Given the description of an element on the screen output the (x, y) to click on. 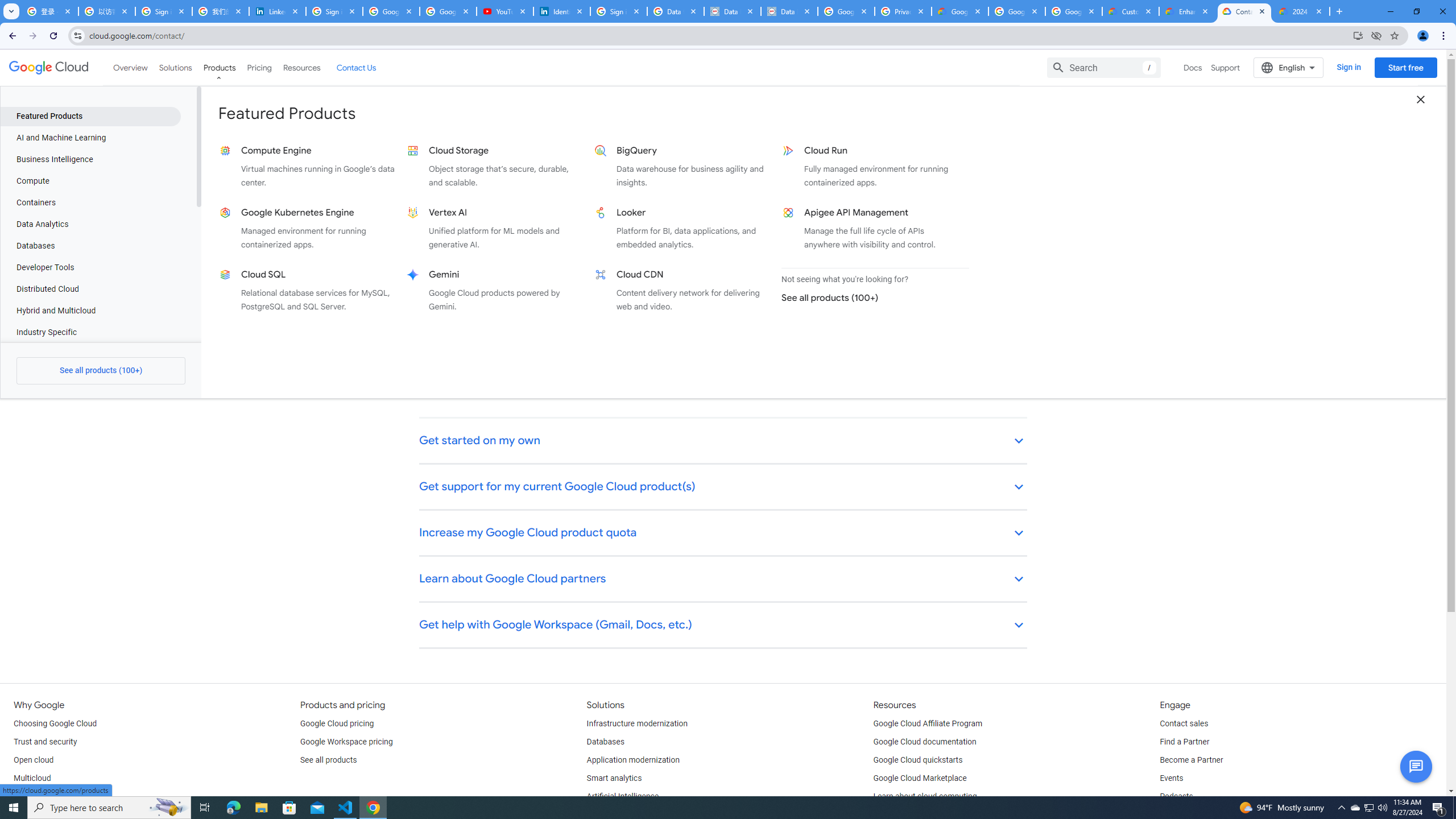
Developer Tools (90, 267)
Events (1170, 778)
Find a Partner (1183, 742)
Google Cloud documentation (924, 742)
Databases (605, 742)
Trust and security (45, 742)
Contact sales (1183, 723)
Learn about Google Cloud partners keyboard_arrow_down (723, 579)
